Given the description of an element on the screen output the (x, y) to click on. 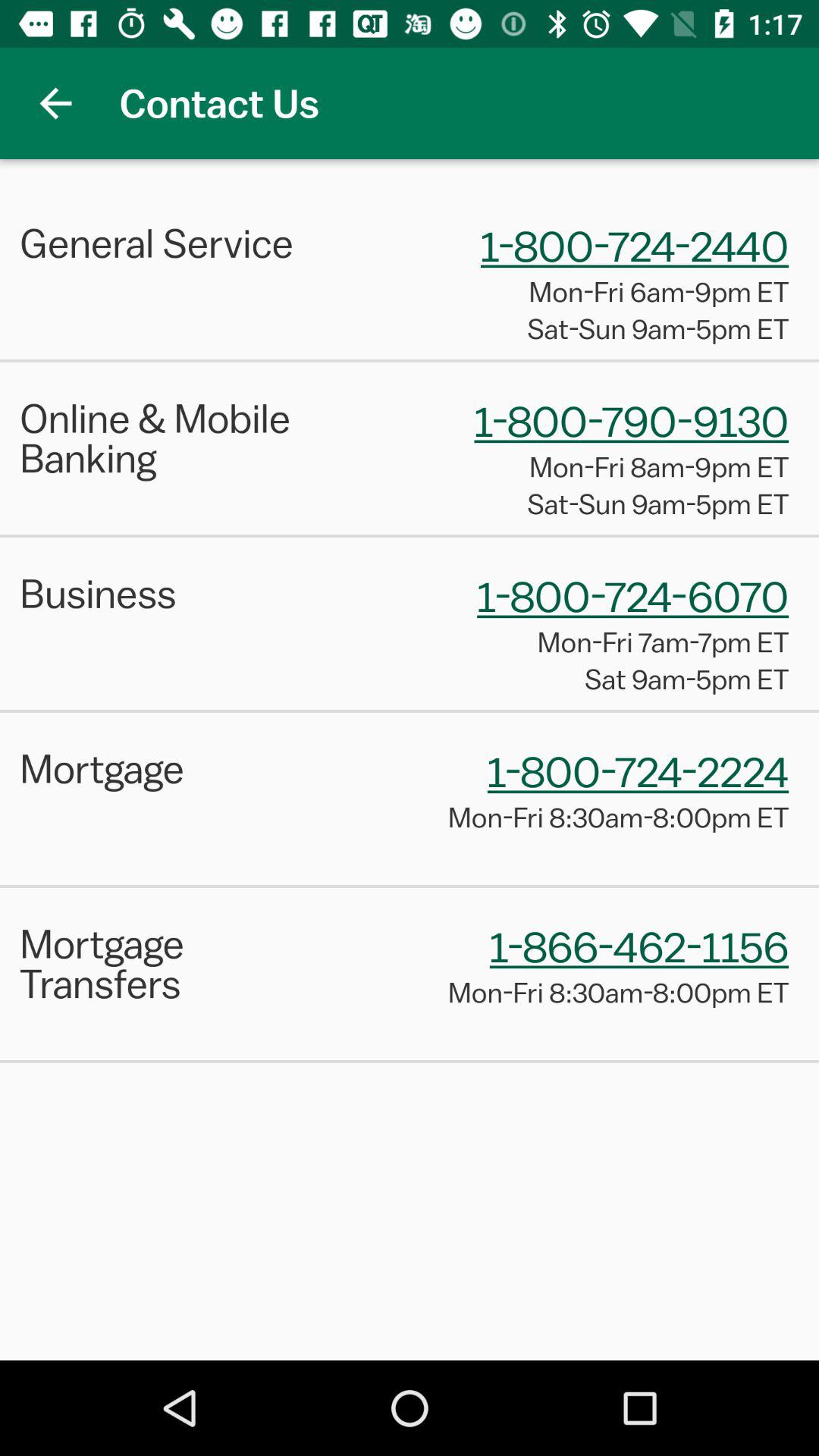
tap the item above the general service icon (55, 103)
